Given the description of an element on the screen output the (x, y) to click on. 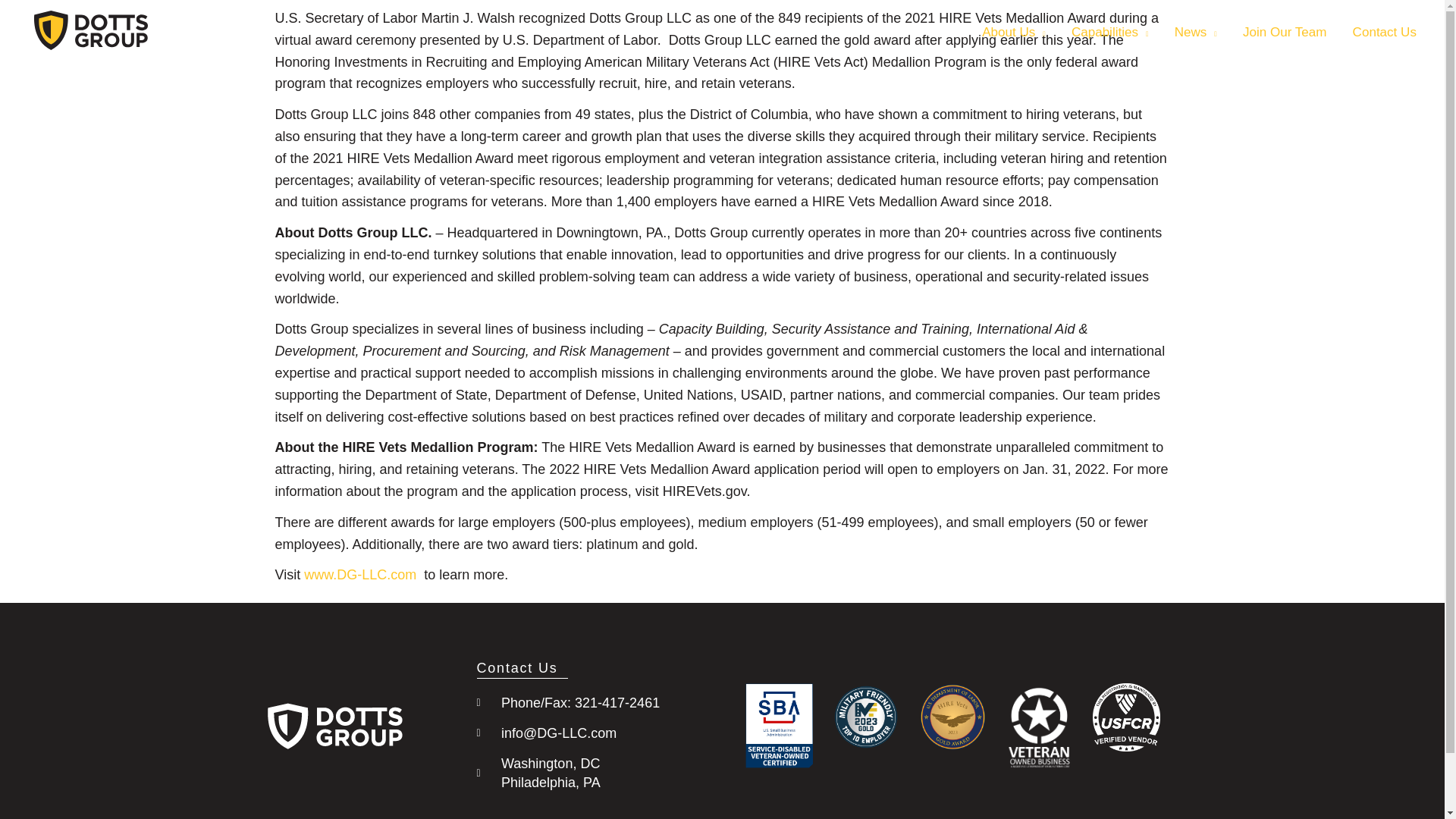
Contact Us (1384, 31)
Capabilities (1109, 31)
News (1195, 31)
Join Our Team (1284, 31)
About Us (1013, 31)
